Given the description of an element on the screen output the (x, y) to click on. 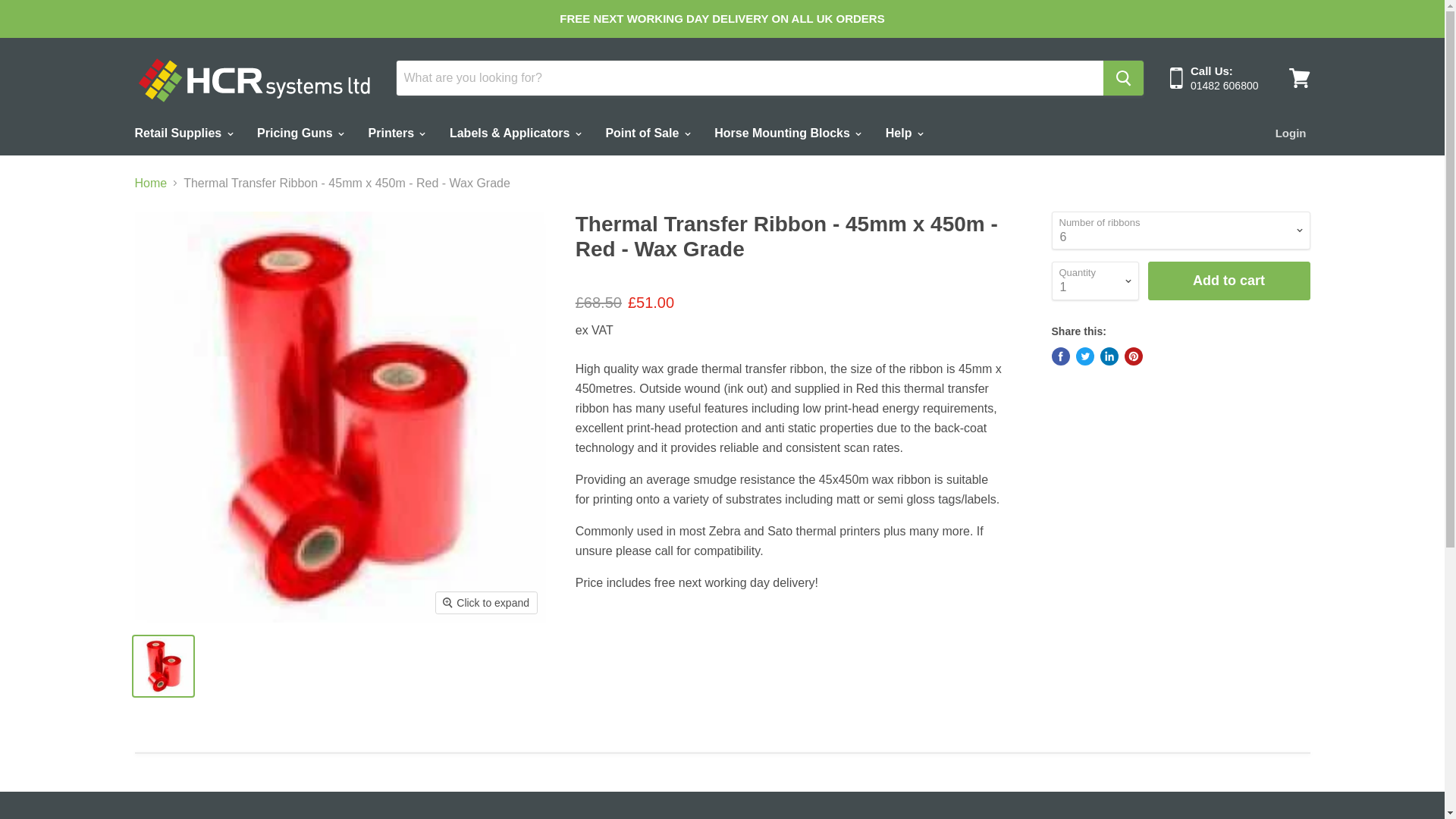
View cart (1299, 77)
Retail Supplies (181, 132)
Pricing Guns (299, 132)
